Given the description of an element on the screen output the (x, y) to click on. 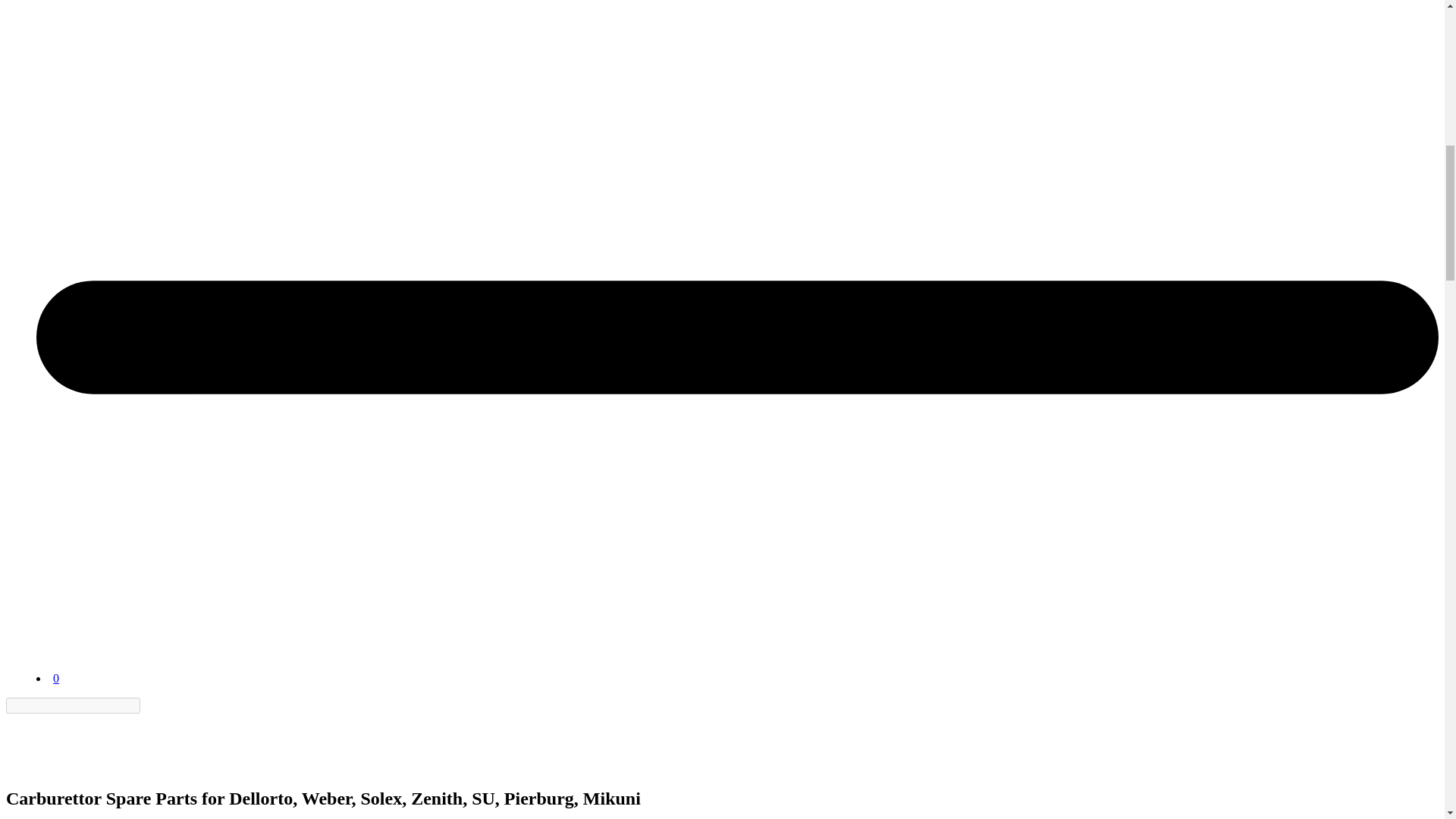
Dellorto Shop Carburettor Shop Ricambi Carburatori (43, 766)
Dellorto Shop Carburettor Shop Ricambi Carburatori (74, 640)
Find (148, 705)
Dellorto Shop Carburettor Shop Ricambi Carburatori (43, 741)
Dellorto Shop Carburettor Shop Ricambi Carburatori (74, 664)
